Given the description of an element on the screen output the (x, y) to click on. 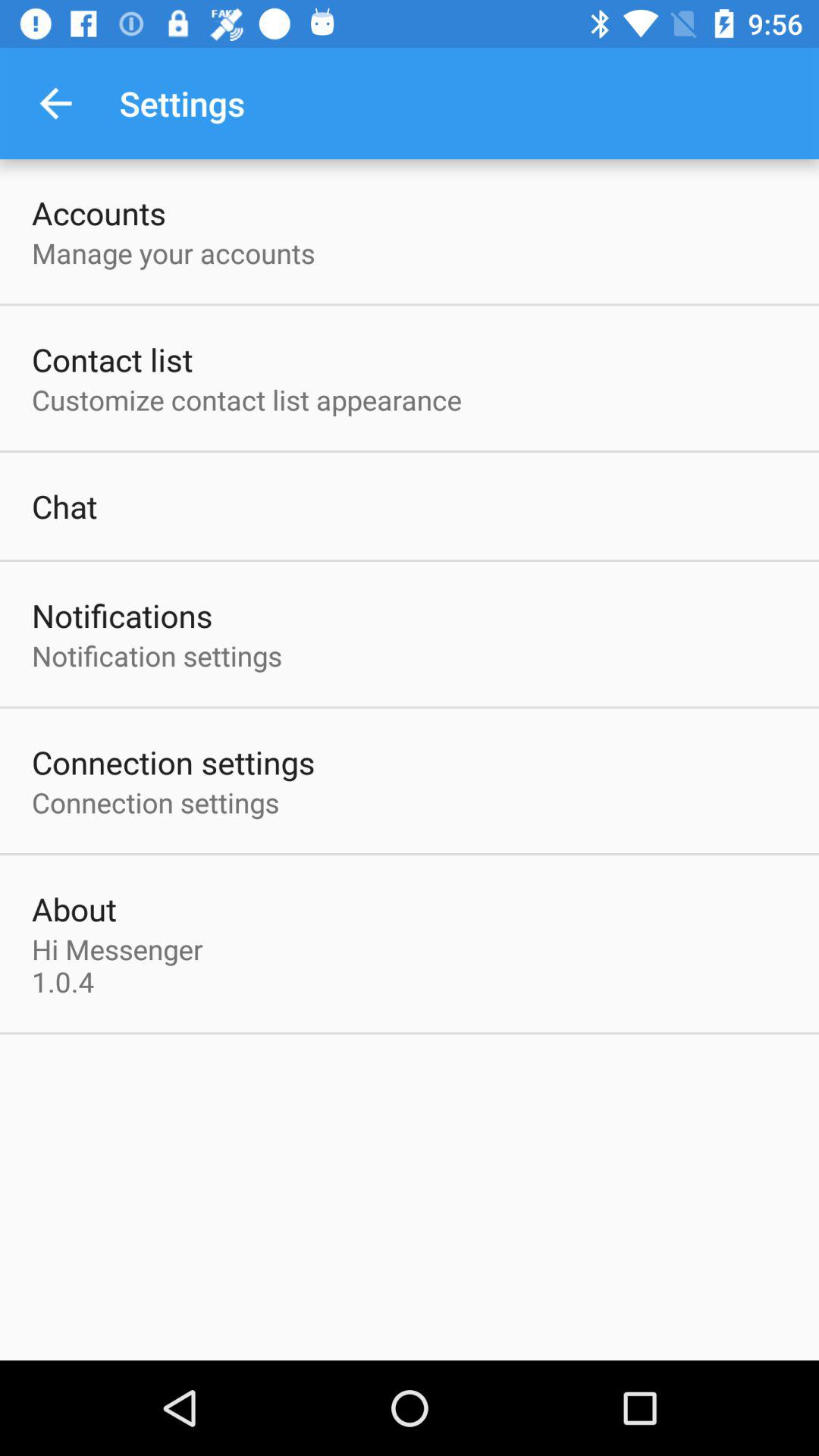
turn off the icon next to settings item (55, 103)
